Given the description of an element on the screen output the (x, y) to click on. 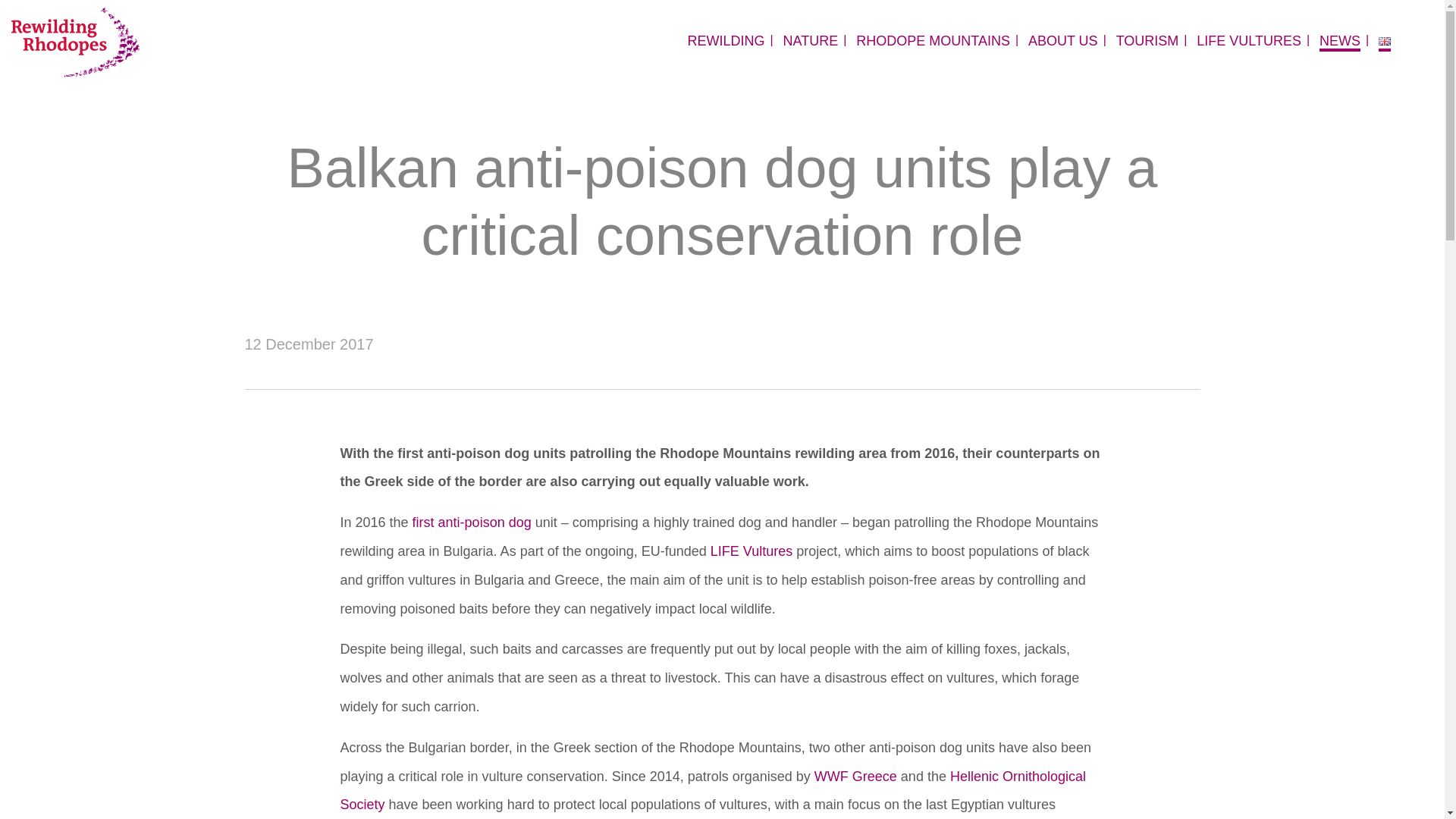
RHODOPE MOUNTAINS (933, 40)
TOURISM (1147, 40)
WWF Greece (854, 776)
first anti-poison dog (471, 522)
NATURE (810, 40)
REWILDING (726, 40)
NEWS (1339, 40)
LIFE VULTURES (1248, 40)
ABOUT US (1062, 40)
Hellenic Ornithological Society (712, 791)
LIFE Vultures (751, 550)
